Given the description of an element on the screen output the (x, y) to click on. 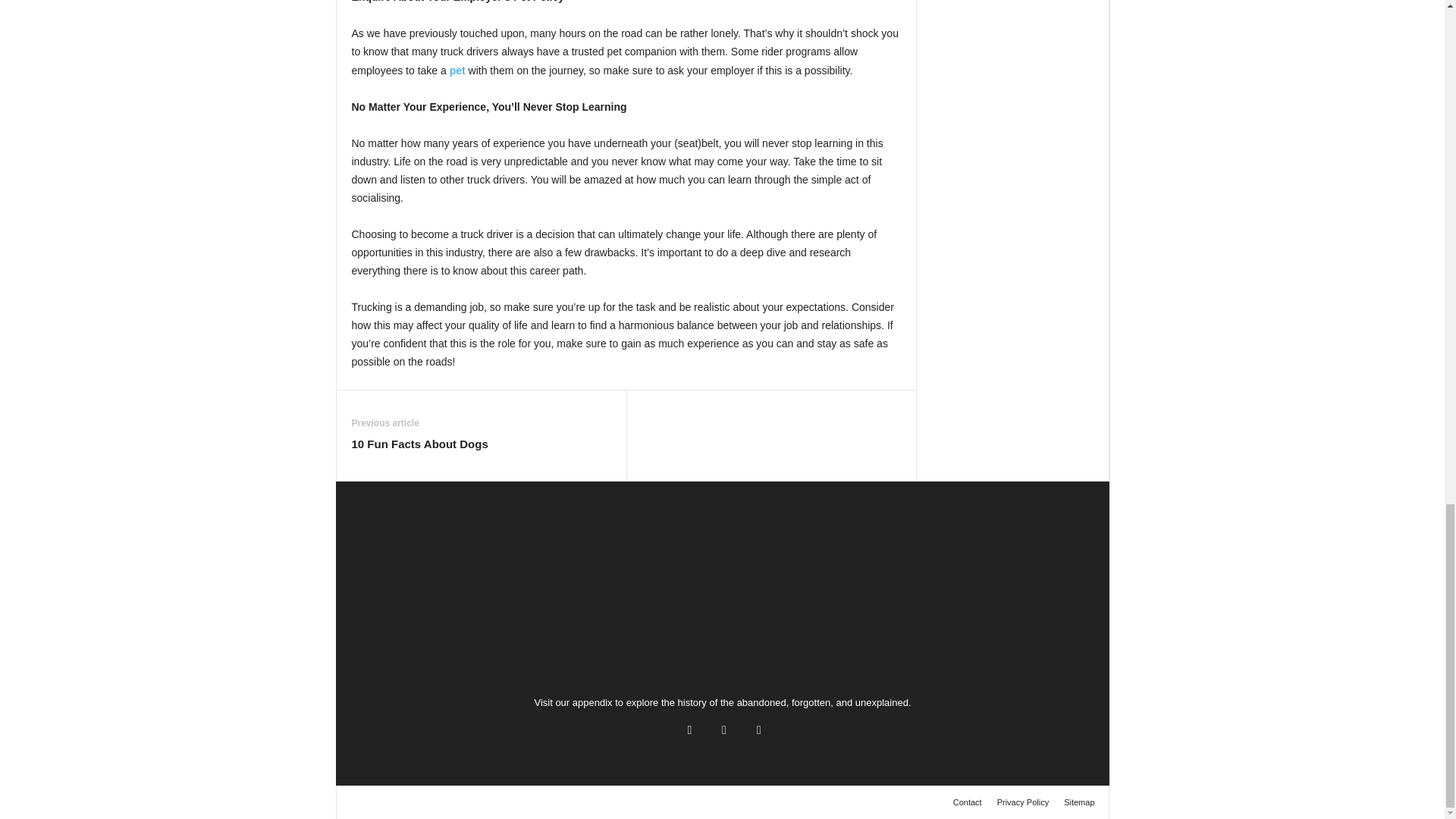
Twitter (723, 730)
Youtube (757, 730)
Facebook (688, 730)
